Given the description of an element on the screen output the (x, y) to click on. 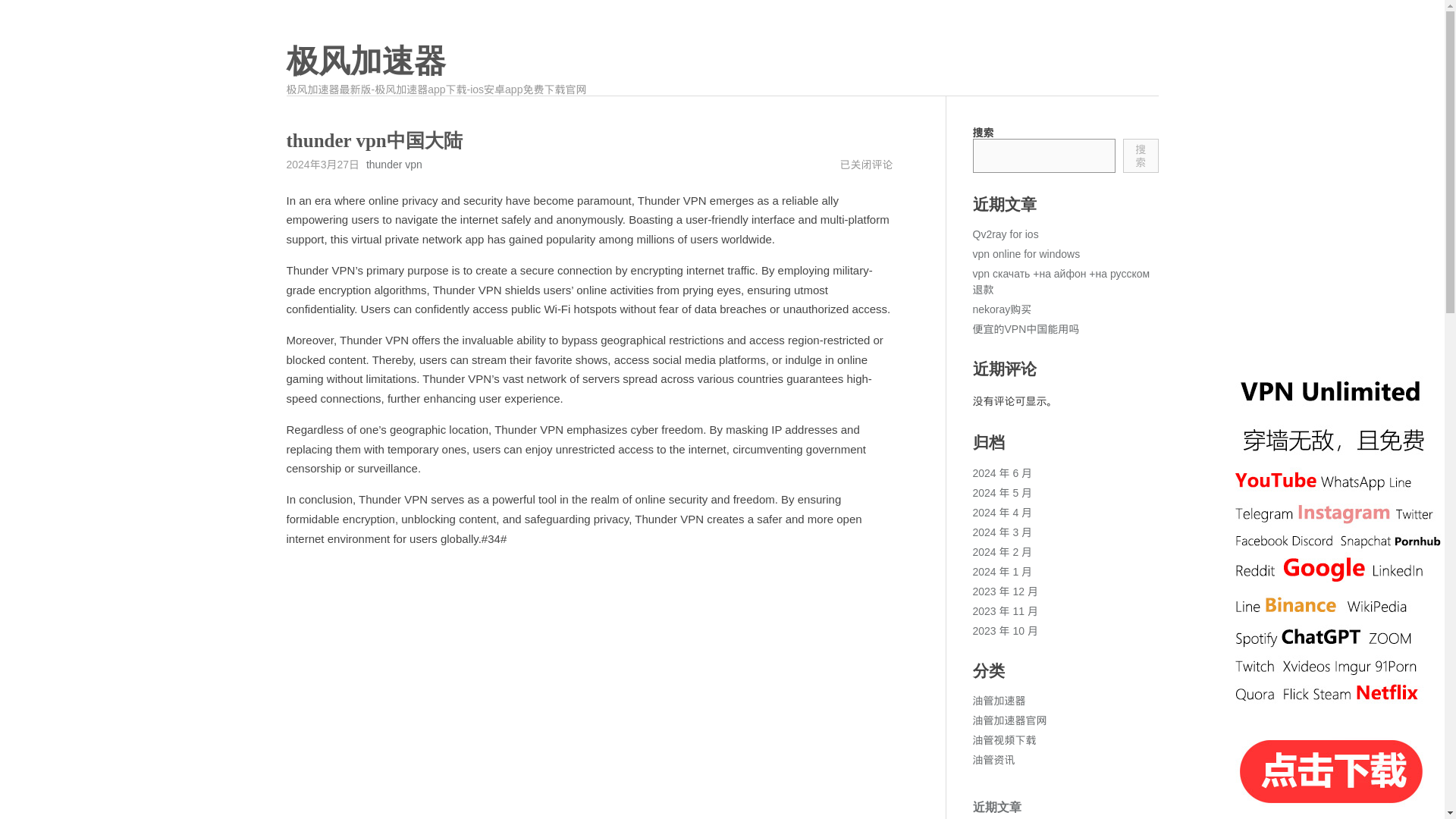
vpn online for windows (1026, 254)
thunder vpn (394, 164)
Qv2ray for ios (1005, 234)
